Given the description of an element on the screen output the (x, y) to click on. 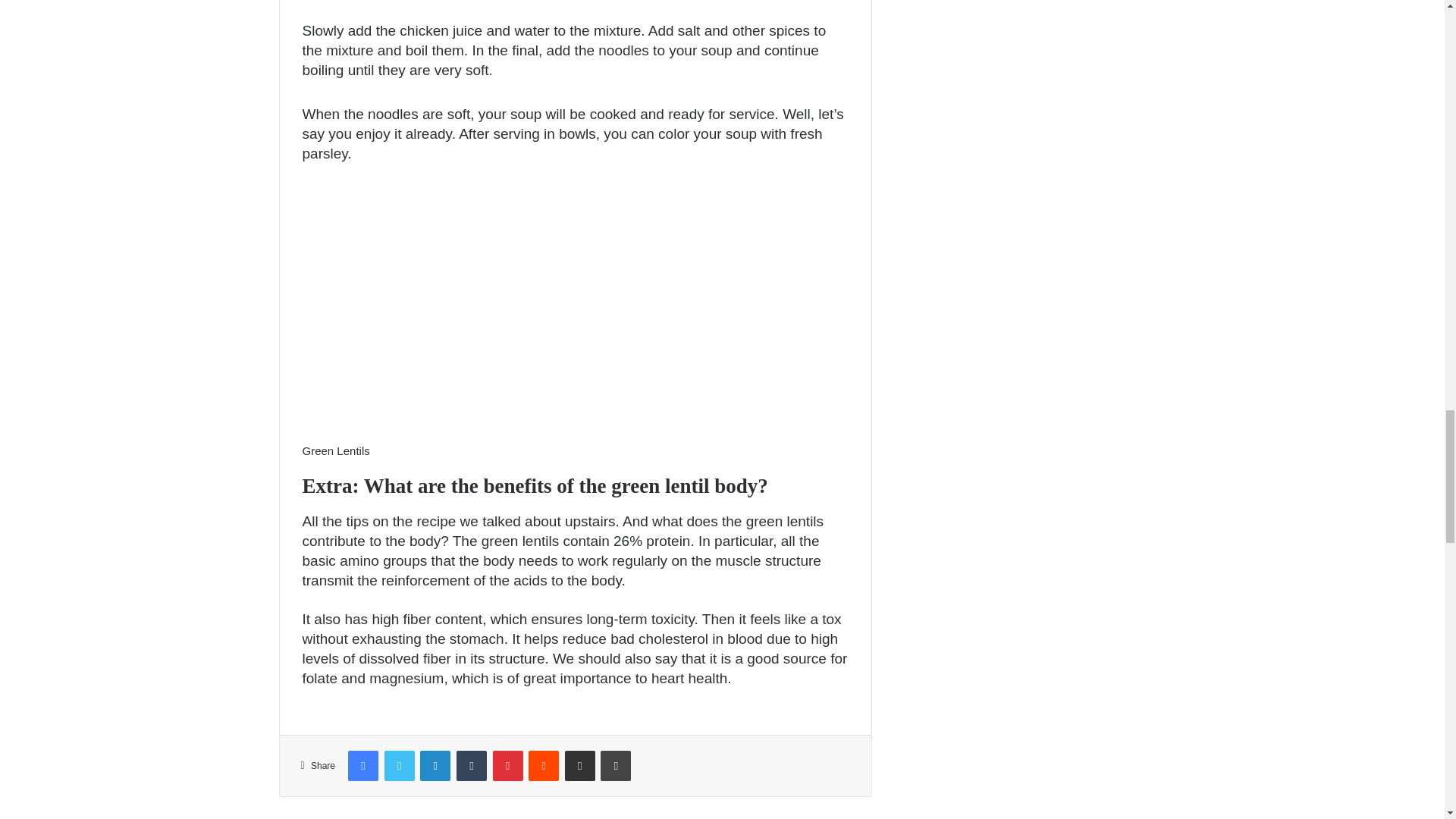
Twitter (399, 766)
Facebook (362, 766)
Facebook (362, 766)
Reddit (543, 766)
LinkedIn (434, 766)
Tumblr (471, 766)
Reddit (543, 766)
Twitter (399, 766)
Pinterest (507, 766)
LinkedIn (434, 766)
